Given the description of an element on the screen output the (x, y) to click on. 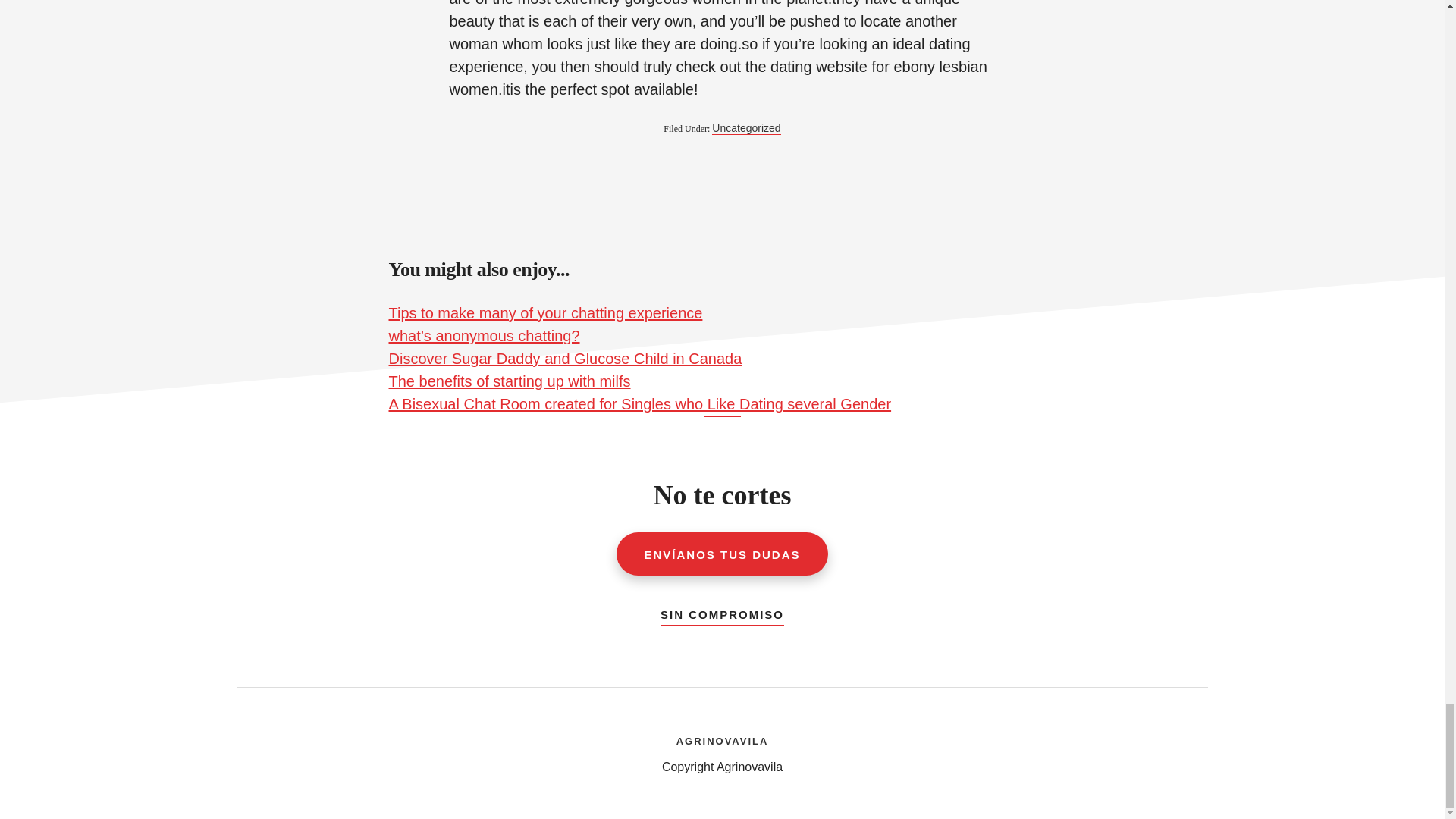
Permanent Link to The benefits of starting up with milfs (509, 381)
Uncategorized (745, 128)
SIN COMPROMISO (722, 611)
The benefits of starting up with milfs (509, 381)
Tips to make many of your chatting experience (544, 312)
AGRINOVAVILA (722, 739)
